Given the description of an element on the screen output the (x, y) to click on. 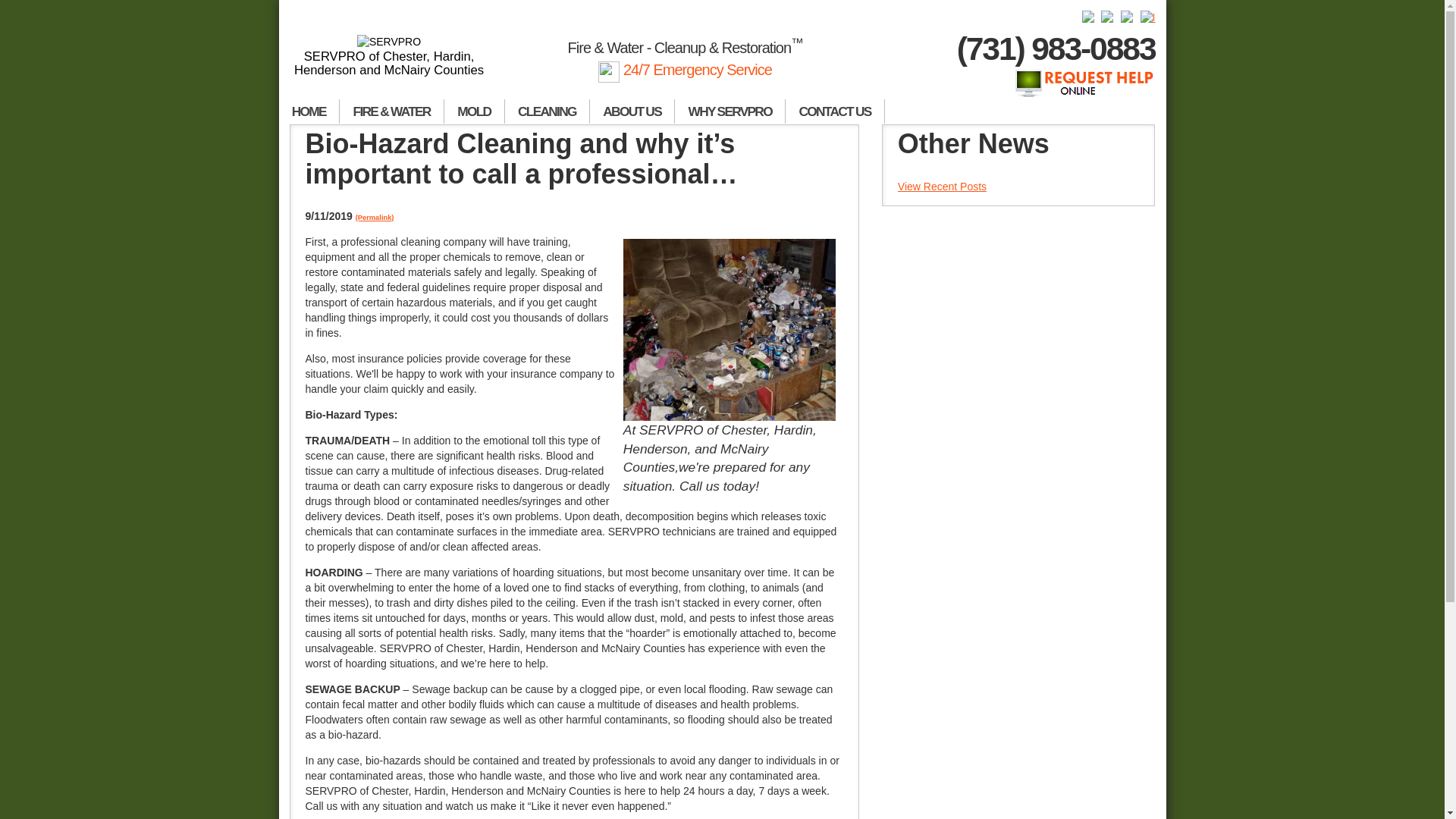
SERVPRO of Chester, Hardin, Henderson and McNairy Counties (389, 55)
CLEANING (547, 111)
HOME (309, 111)
ABOUT US (632, 111)
MOLD (474, 111)
